Given the description of an element on the screen output the (x, y) to click on. 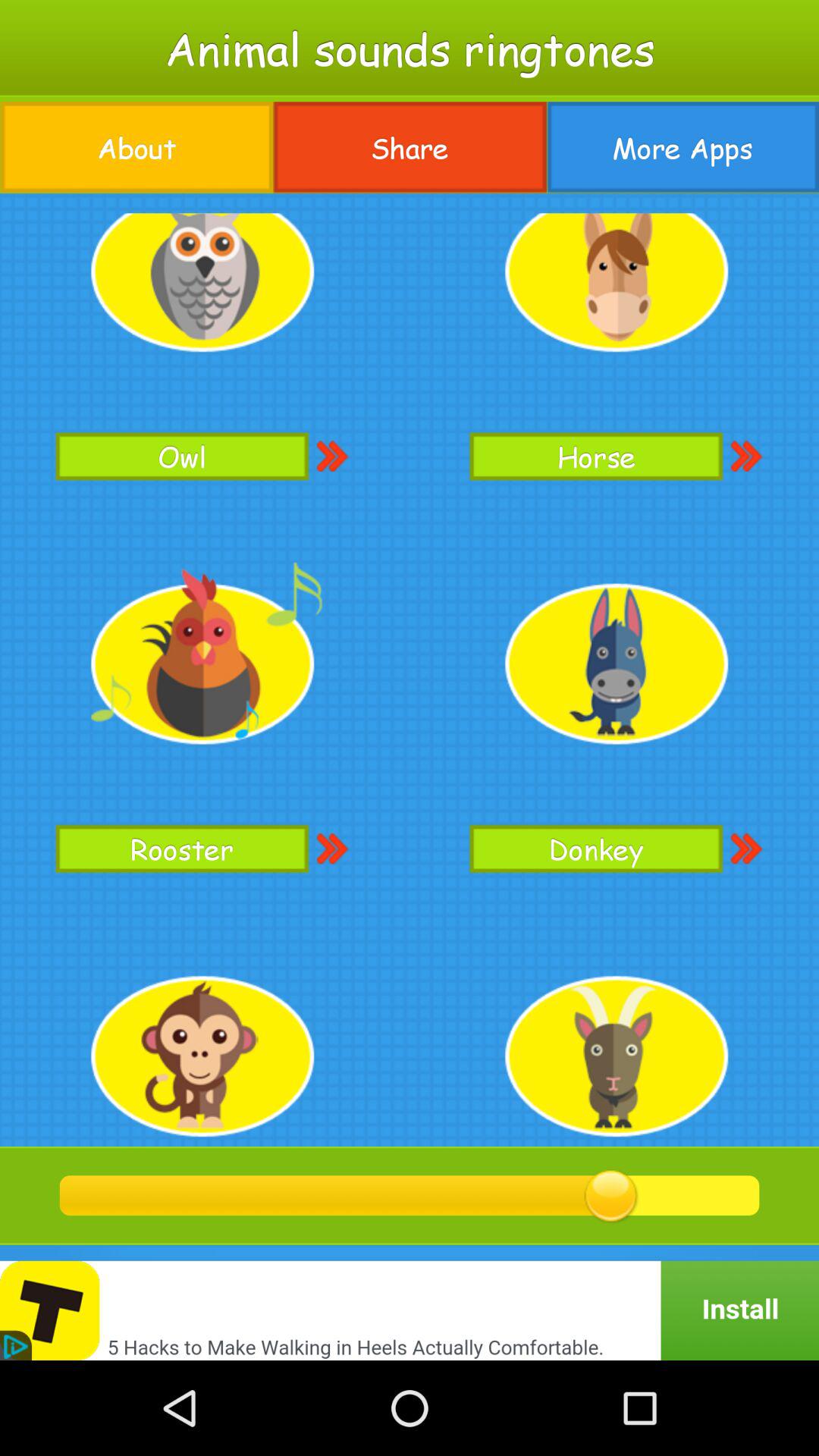
select the item next to more apps button (409, 147)
